Given the description of an element on the screen output the (x, y) to click on. 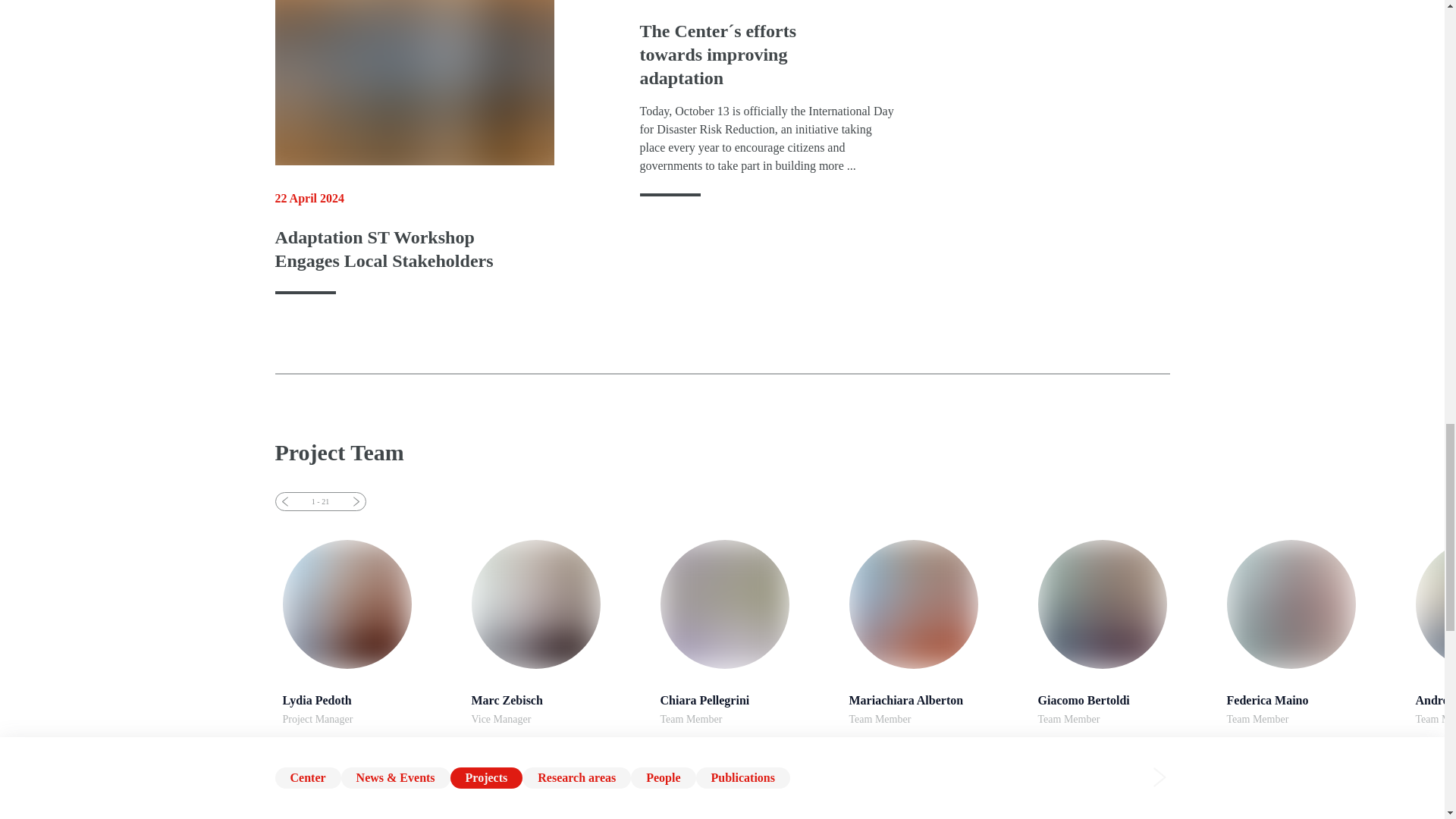
Lydia Pedoth (1123, 631)
Chiara Pellegrini (368, 631)
Federica Maino (745, 631)
Federica Maino (935, 631)
Marc Zebisch (745, 631)
Mariachiara Alberton (1313, 631)
